Given the description of an element on the screen output the (x, y) to click on. 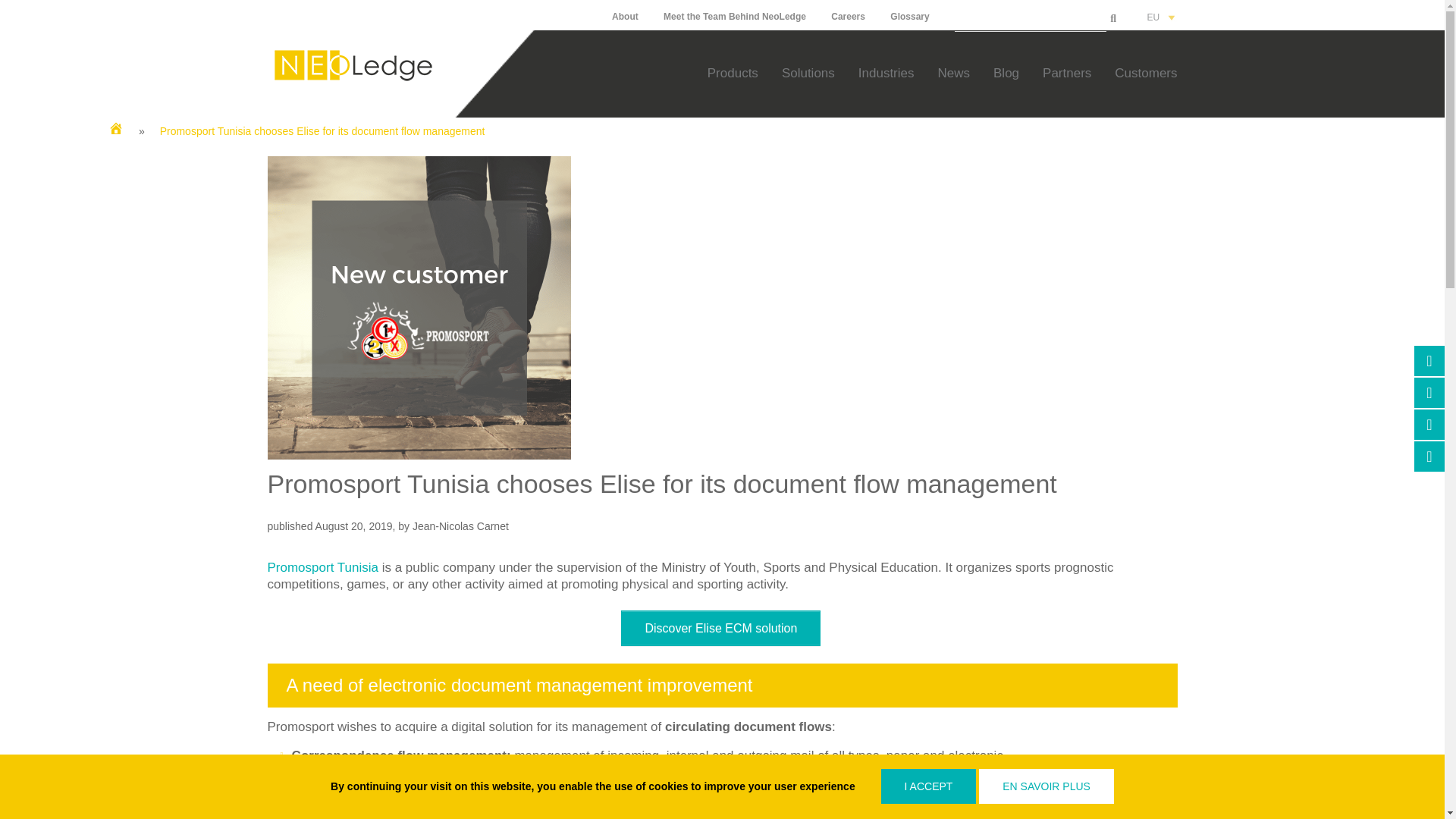
Industries (886, 73)
customer promosport (418, 307)
NeoLedge (352, 83)
Products (732, 73)
Search (1030, 20)
News (953, 73)
Blog (1006, 73)
About (625, 17)
Meet the Team Behind NeoLedge (734, 17)
NeoLedge (352, 64)
Glossary (908, 17)
Solutions (807, 73)
Partners (1066, 73)
Careers (847, 17)
